Given the description of an element on the screen output the (x, y) to click on. 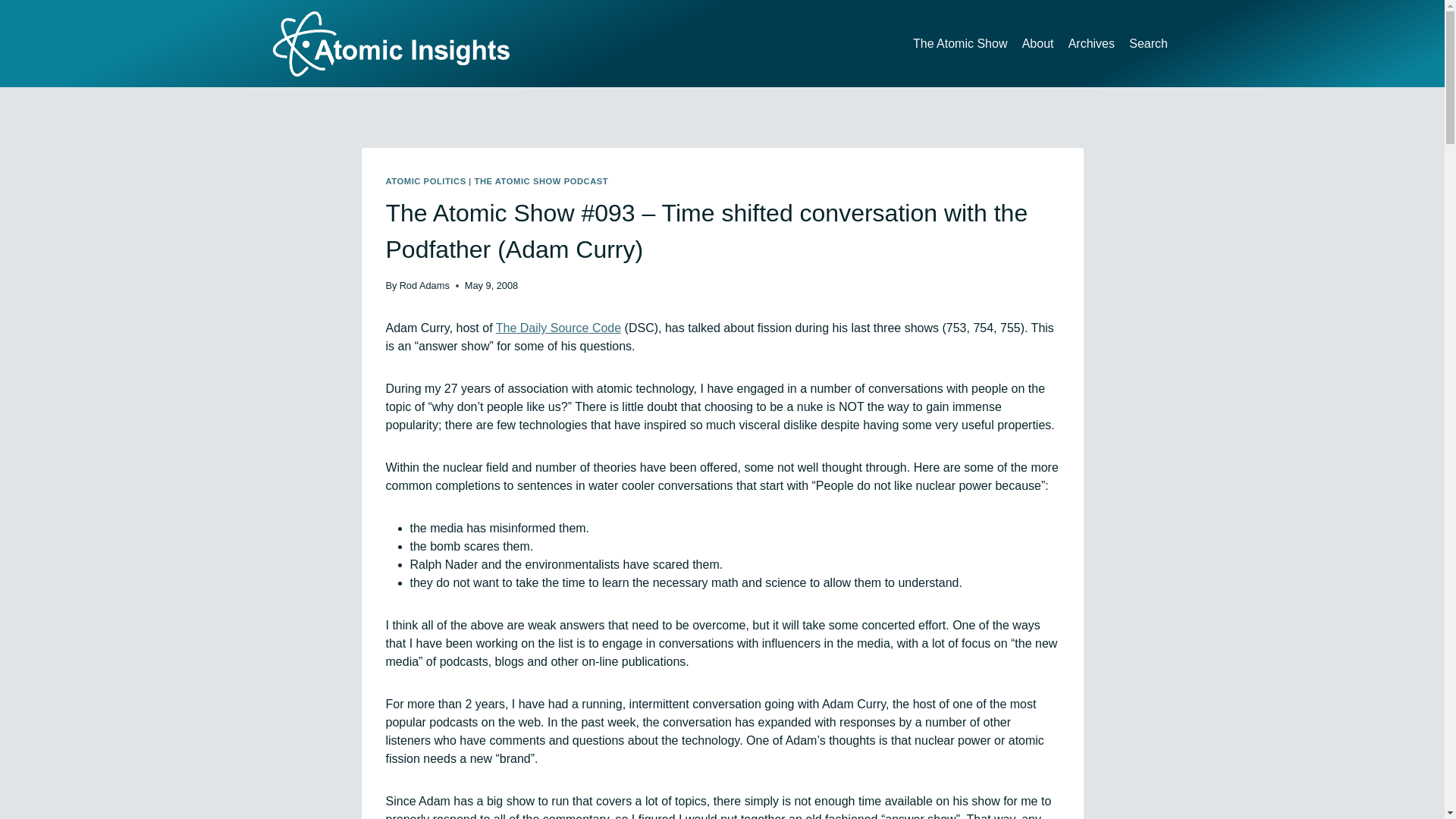
THE ATOMIC SHOW PODCAST (541, 180)
Search (1148, 43)
About (1037, 43)
ATOMIC POLITICS (425, 180)
About Atomic Insights (1037, 43)
Search Atomic Insights (1148, 43)
The Atomic Show Podcast (959, 43)
Rod Adams (423, 285)
The Atomic Show (959, 43)
Atomic Insights Archives (1091, 43)
Archives (1091, 43)
The Daily Source Code (558, 327)
